Given the description of an element on the screen output the (x, y) to click on. 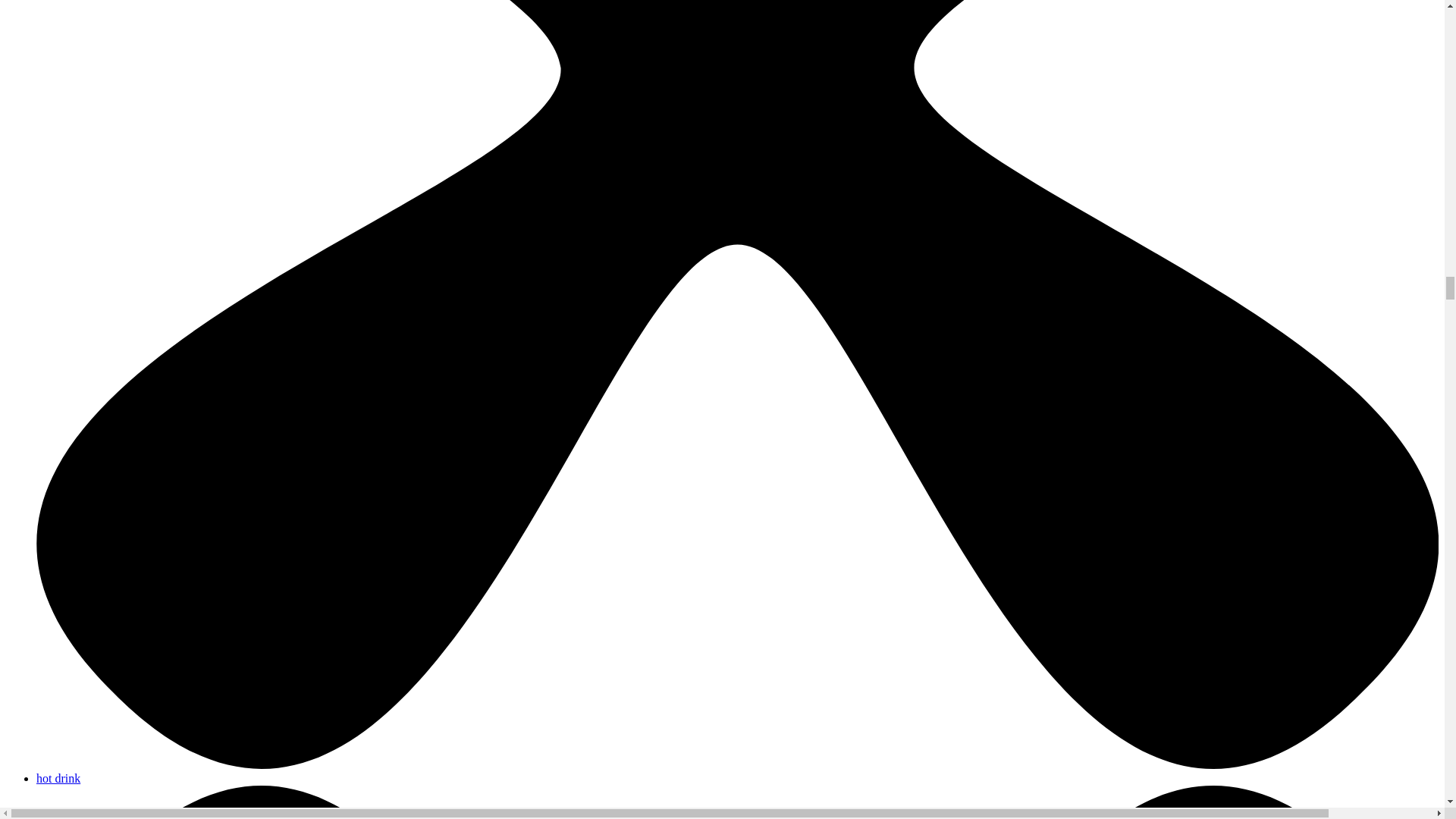
hot drink (58, 778)
